Given the description of an element on the screen output the (x, y) to click on. 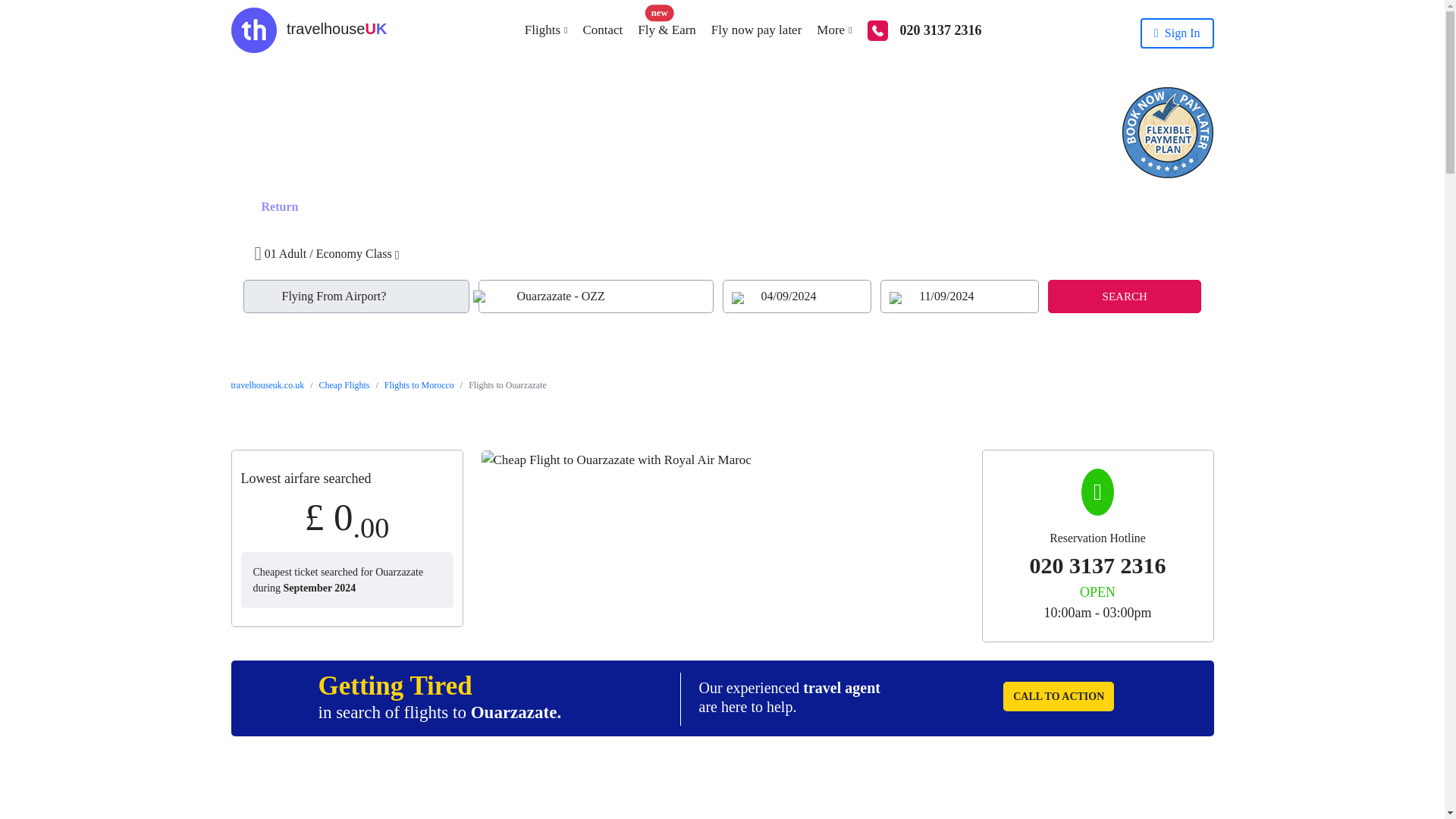
  Sign In (1177, 33)
Flights (538, 30)
Contact (595, 30)
Search (1125, 295)
Fly now pay later (748, 30)
Return (247, 194)
travelhouseUK (308, 30)
More (826, 30)
Ouarzazate - OZZ (595, 295)
OneWay (247, 194)
